Given the description of an element on the screen output the (x, y) to click on. 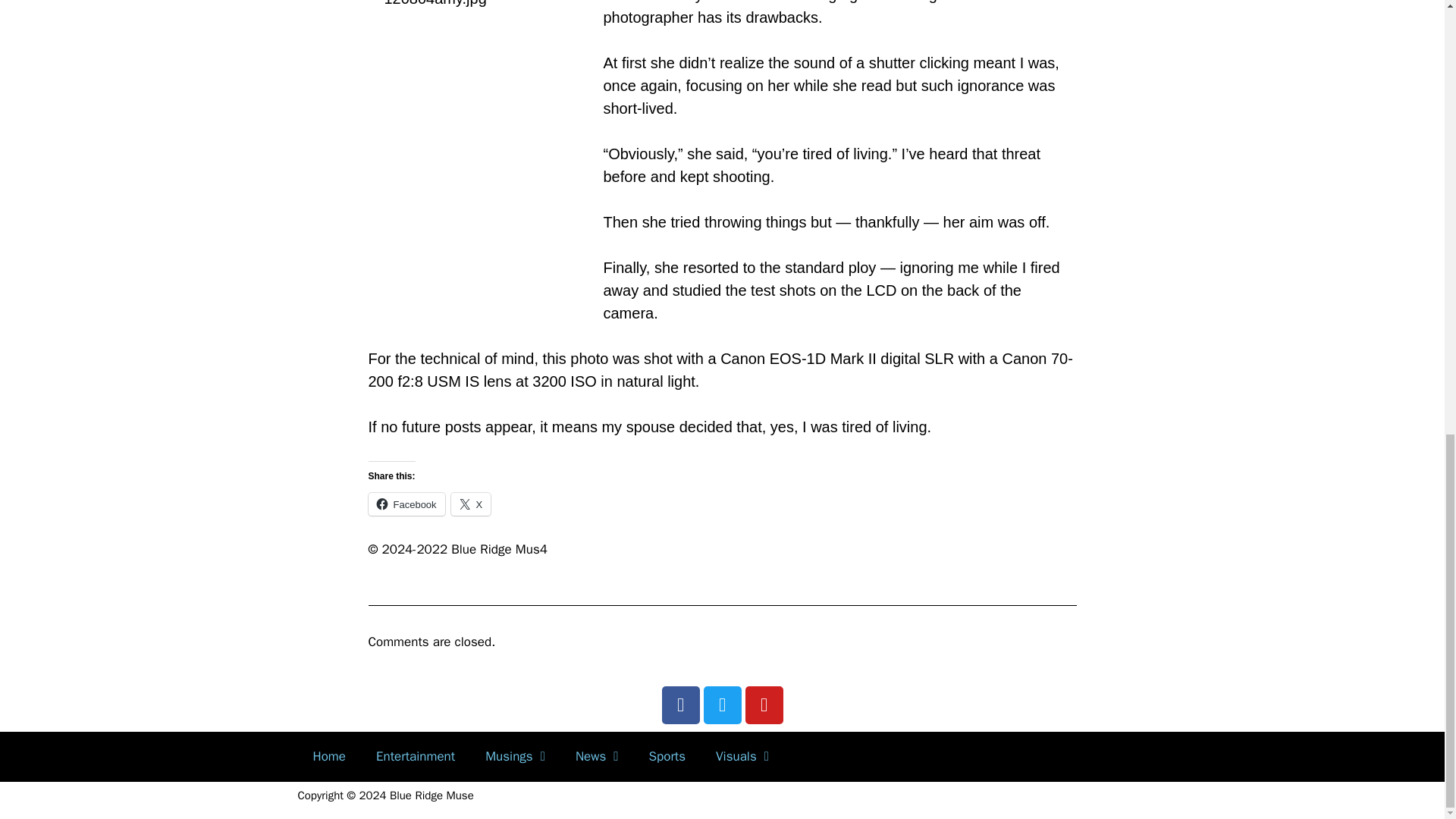
Sports (667, 756)
Facebook (406, 504)
Click to share on X (471, 504)
Visuals (742, 756)
News (596, 756)
Musings (515, 756)
Home (328, 756)
Click to share on Facebook (406, 504)
Entertainment (415, 756)
X (471, 504)
